Given the description of an element on the screen output the (x, y) to click on. 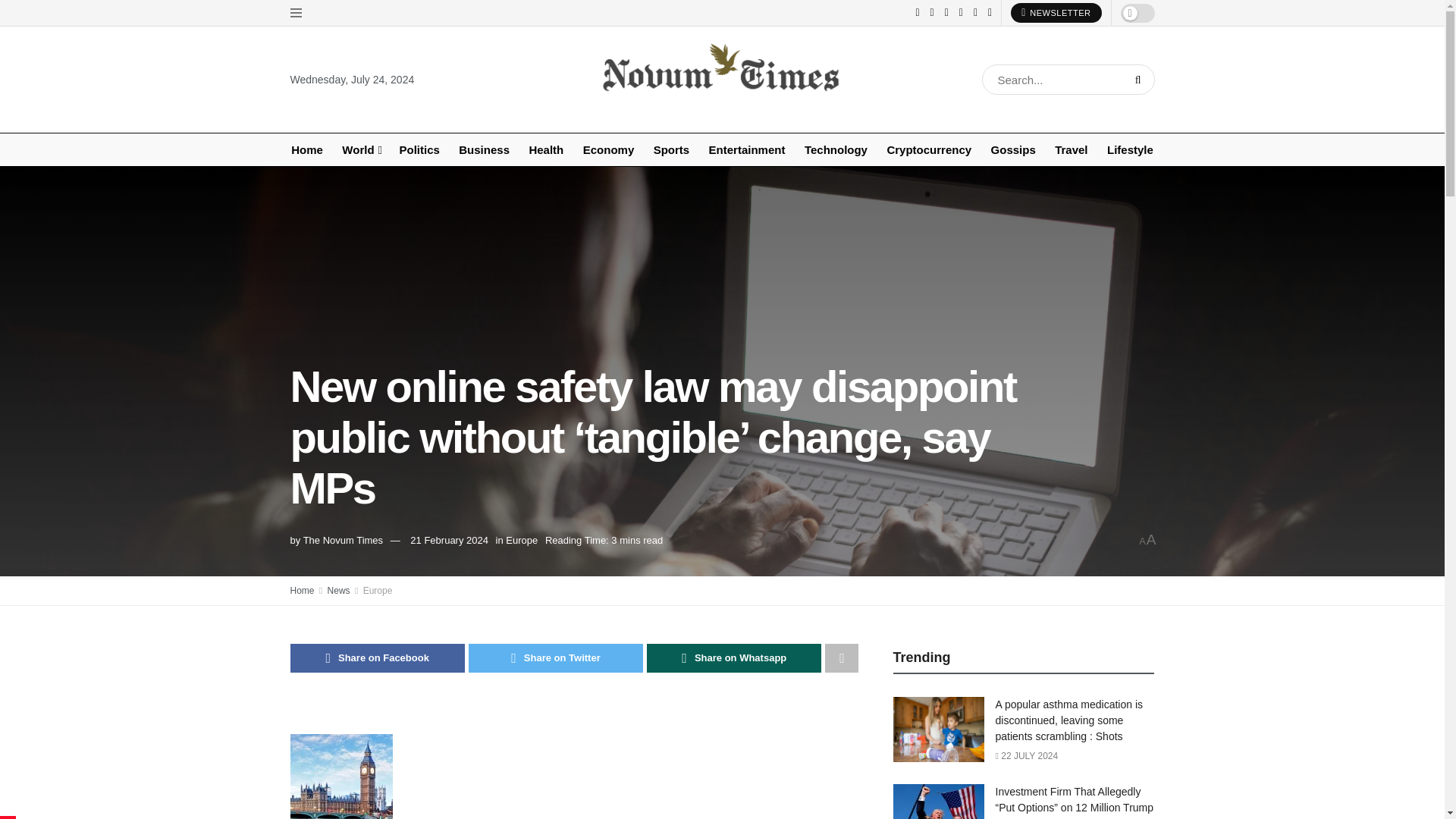
Technology (836, 149)
Lifestyle (1129, 149)
Economy (607, 149)
Travel (1070, 149)
World (360, 149)
Health (545, 149)
Politics (419, 149)
Gossips (1013, 149)
Sports (671, 149)
Entertainment (746, 149)
Business (484, 149)
Home (306, 149)
Cryptocurrency (928, 149)
NEWSLETTER (1055, 12)
